Given the description of an element on the screen output the (x, y) to click on. 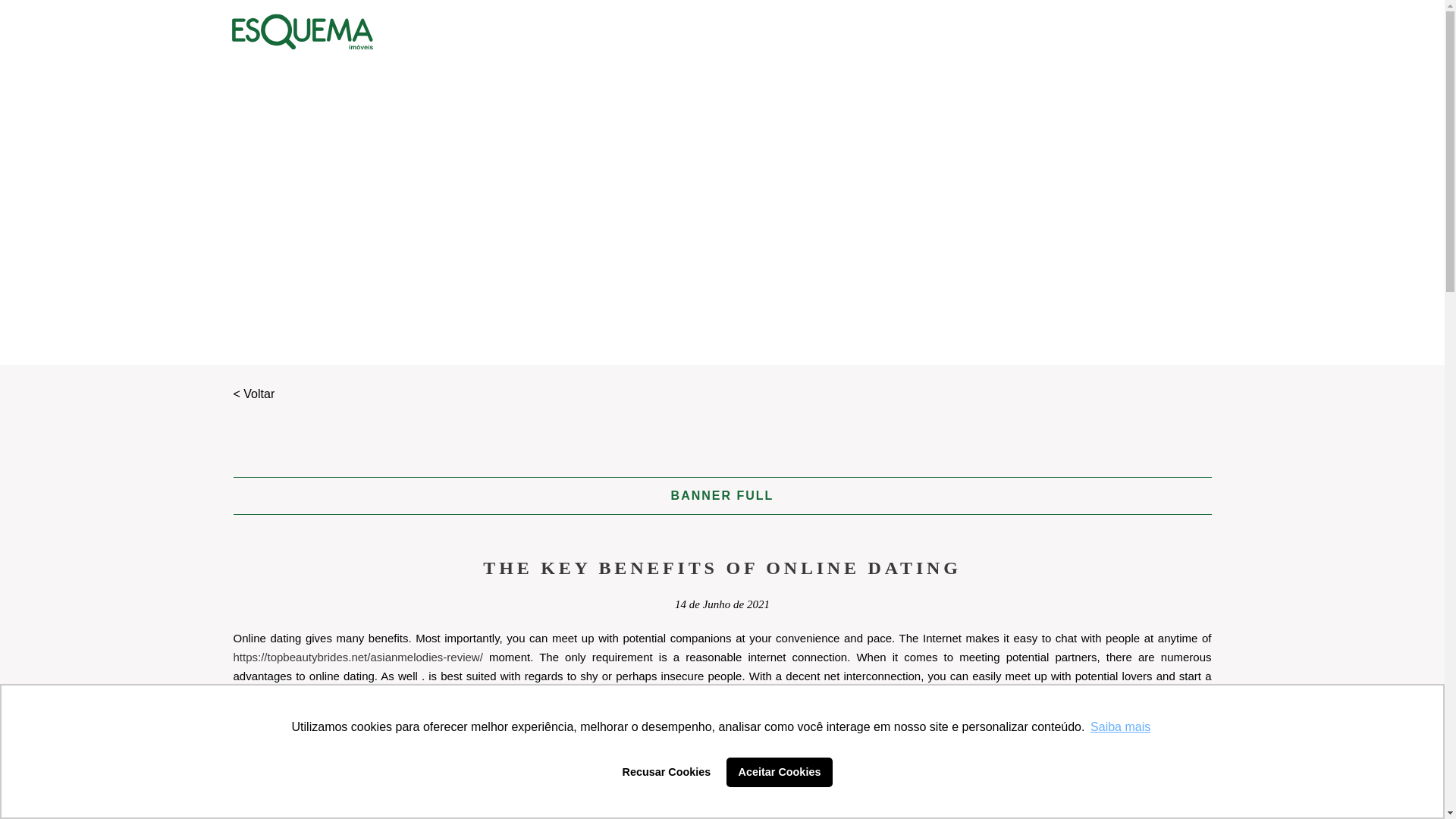
BANNER FULL (722, 495)
Recusar Cookies (665, 771)
Aceitar Cookies (779, 771)
Saiba mais (1120, 726)
